Given the description of an element on the screen output the (x, y) to click on. 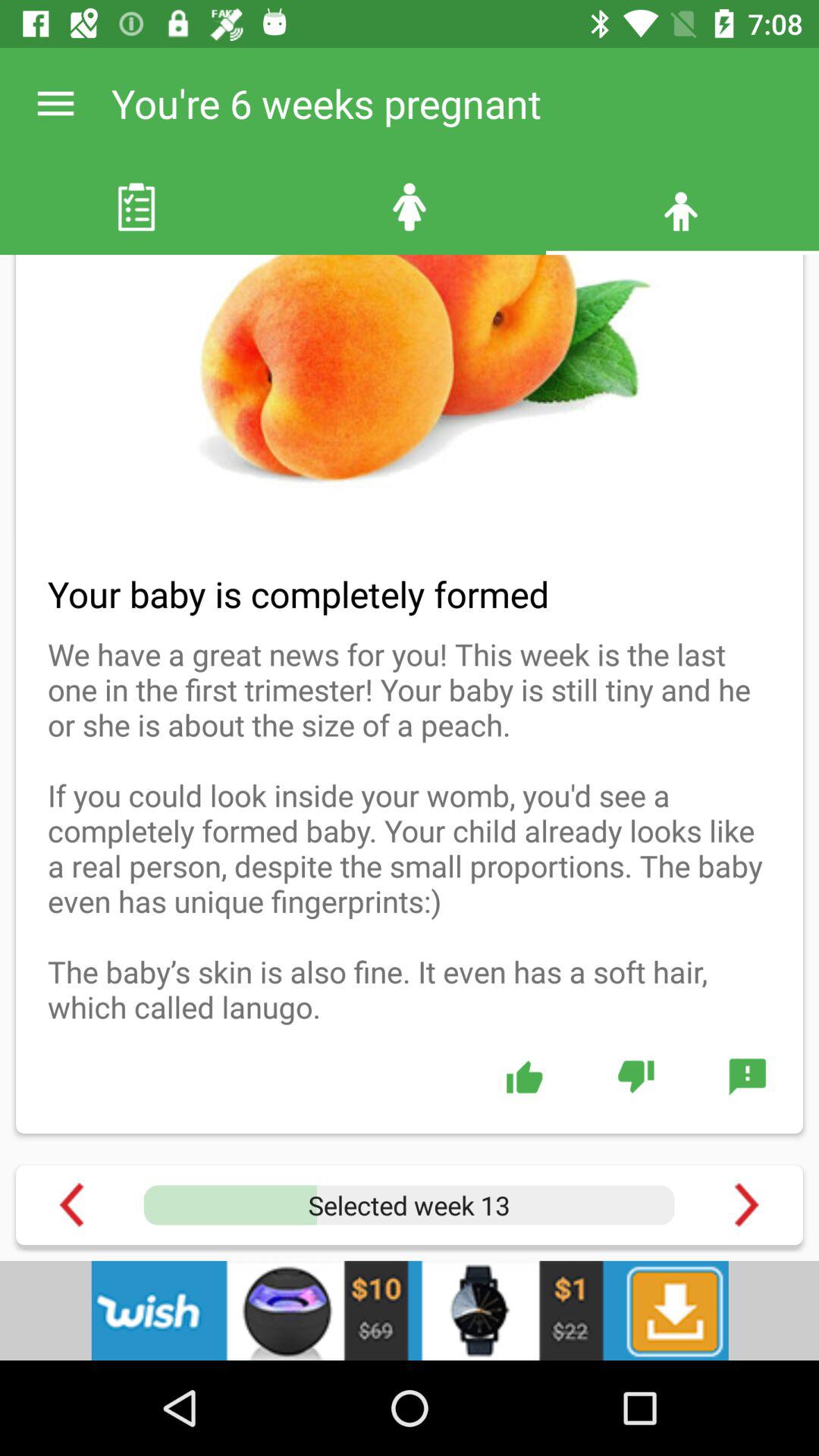
advances to the next page (746, 1204)
